Given the description of an element on the screen output the (x, y) to click on. 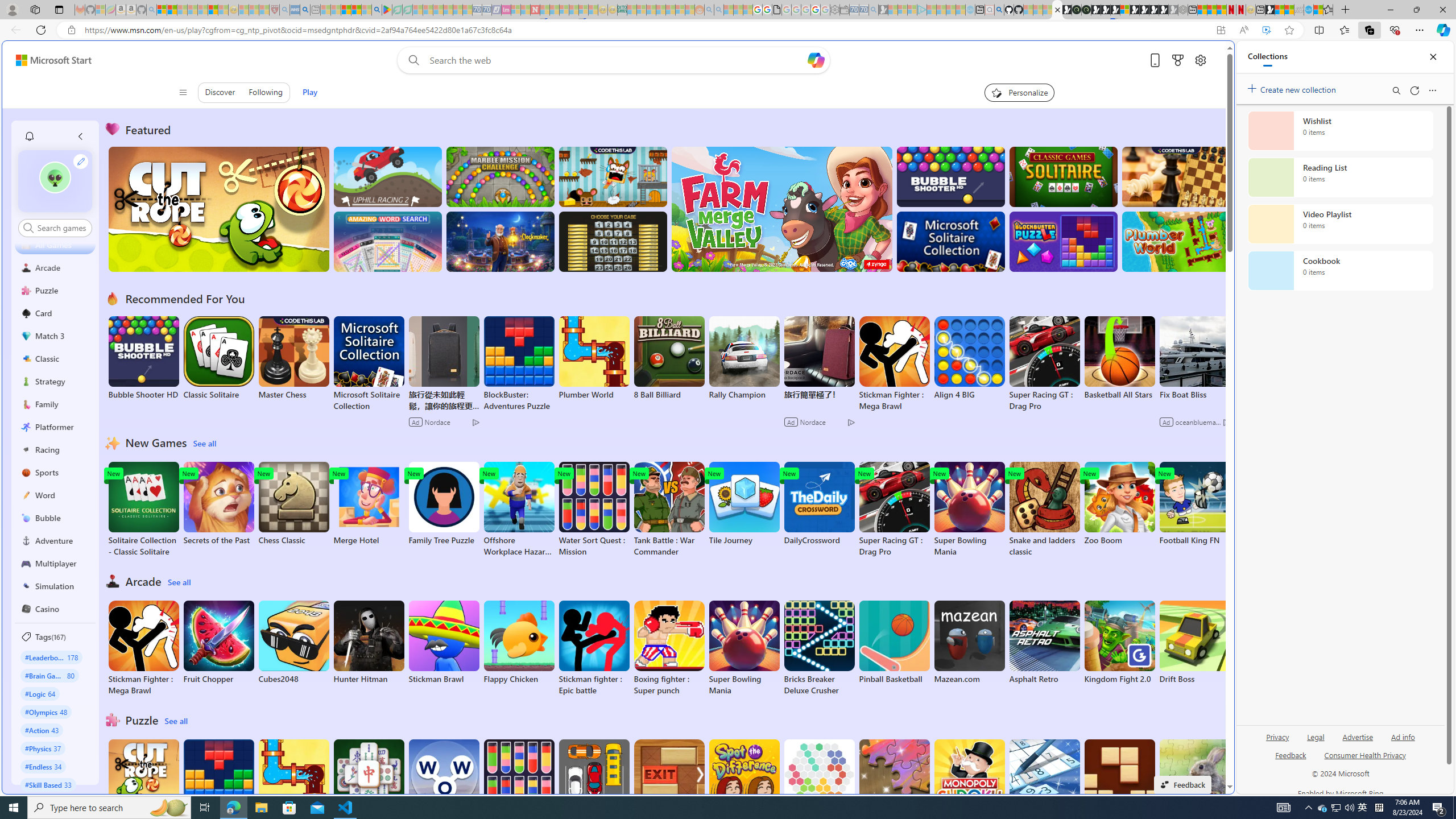
""'s avatar (54, 180)
Class: ad-choice  ad-choice-mono  (1226, 422)
Super Bowling Mania (744, 648)
Zoo Boom (1119, 503)
Frequently visited (965, 151)
Services - Maintenance | Sky Blue Bikes - Sky Blue Bikes (1307, 9)
